Given the description of an element on the screen output the (x, y) to click on. 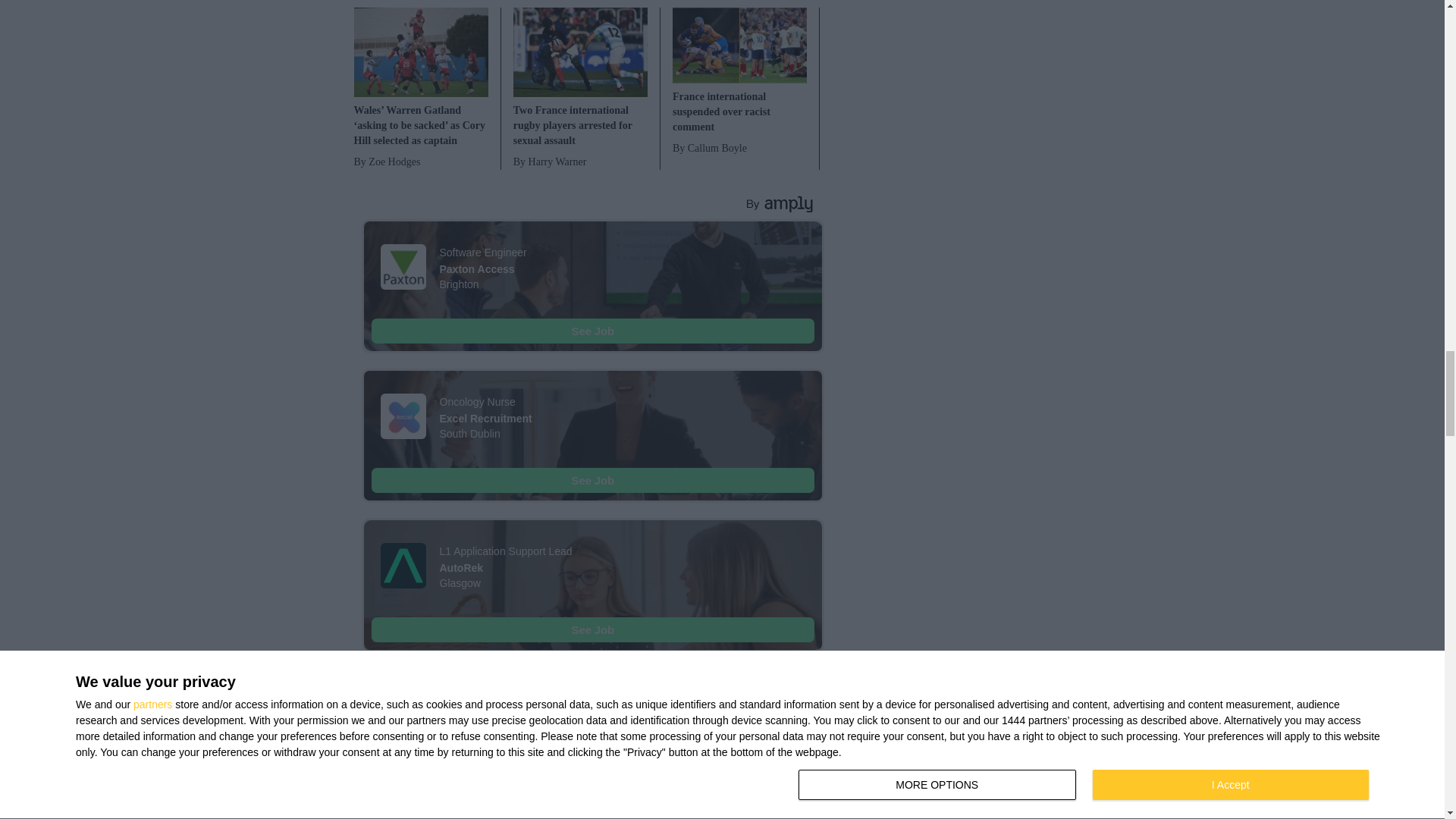
Harry Warner (580, 161)
Zoe Hodges (420, 161)
